Given the description of an element on the screen output the (x, y) to click on. 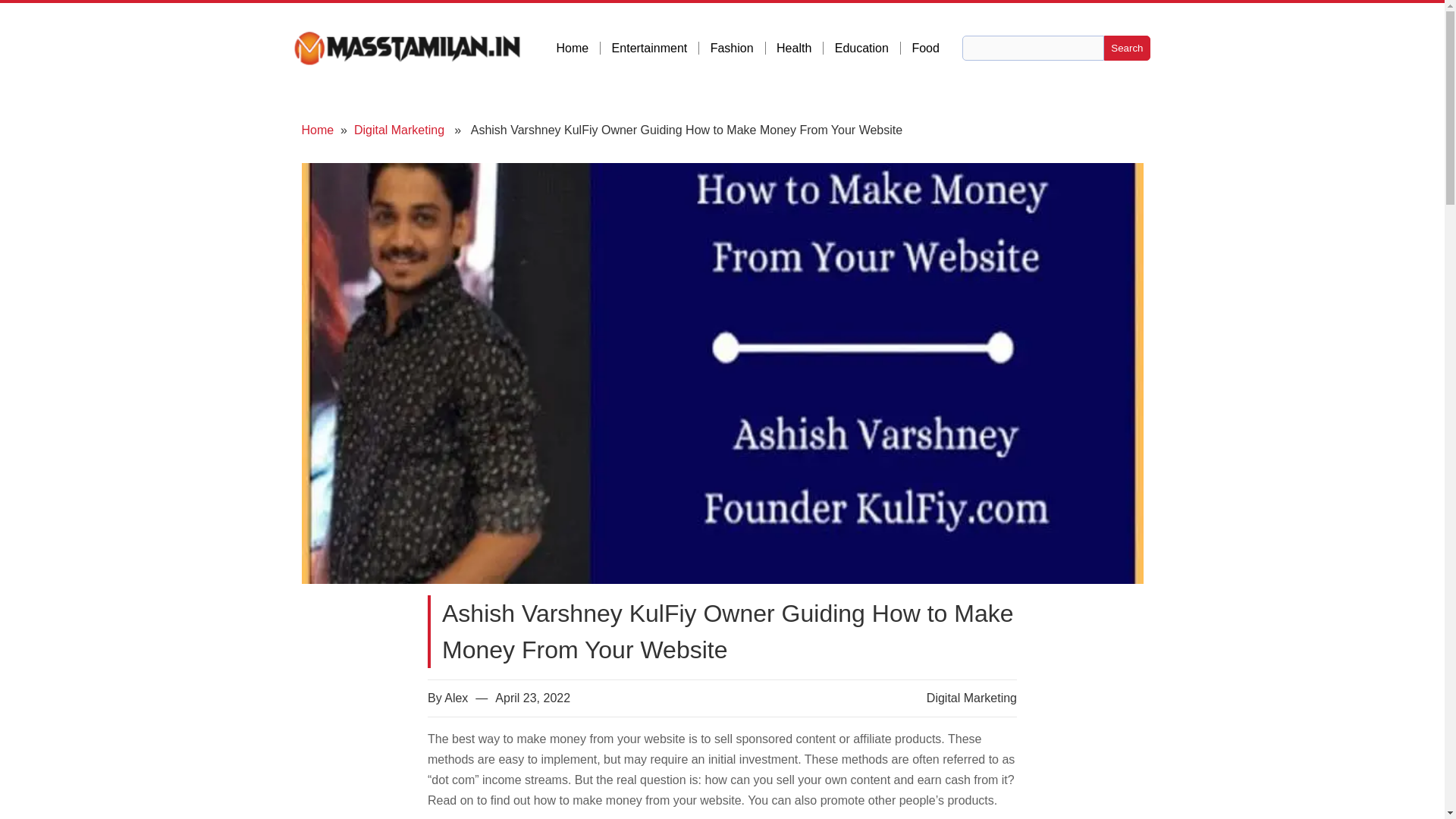
Home (317, 129)
Digital Marketing (971, 697)
Education (867, 47)
Food (925, 47)
Digital Marketing (398, 129)
Search (1126, 48)
Fashion (737, 47)
Entertainment (655, 47)
Home (577, 47)
Search (1126, 48)
